Given the description of an element on the screen output the (x, y) to click on. 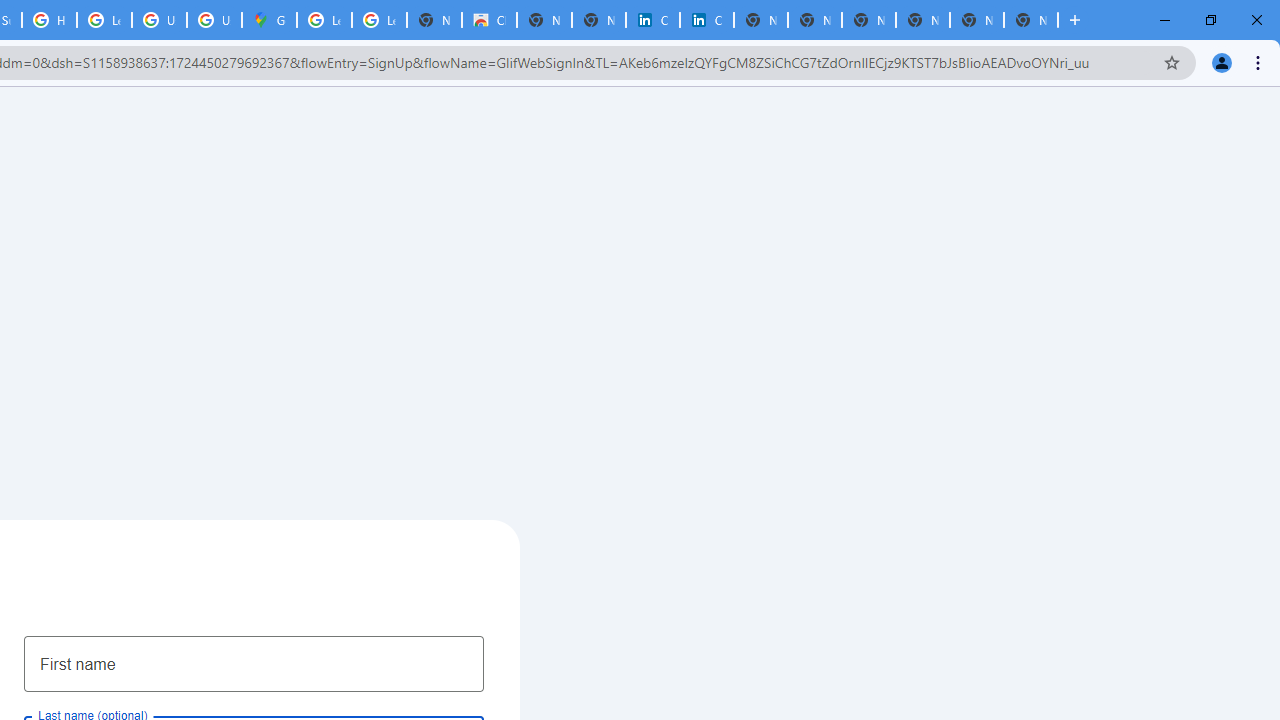
Cookie Policy | LinkedIn (706, 20)
Cookie Policy | LinkedIn (652, 20)
Google Maps (268, 20)
Chrome Web Store (489, 20)
